Given the description of an element on the screen output the (x, y) to click on. 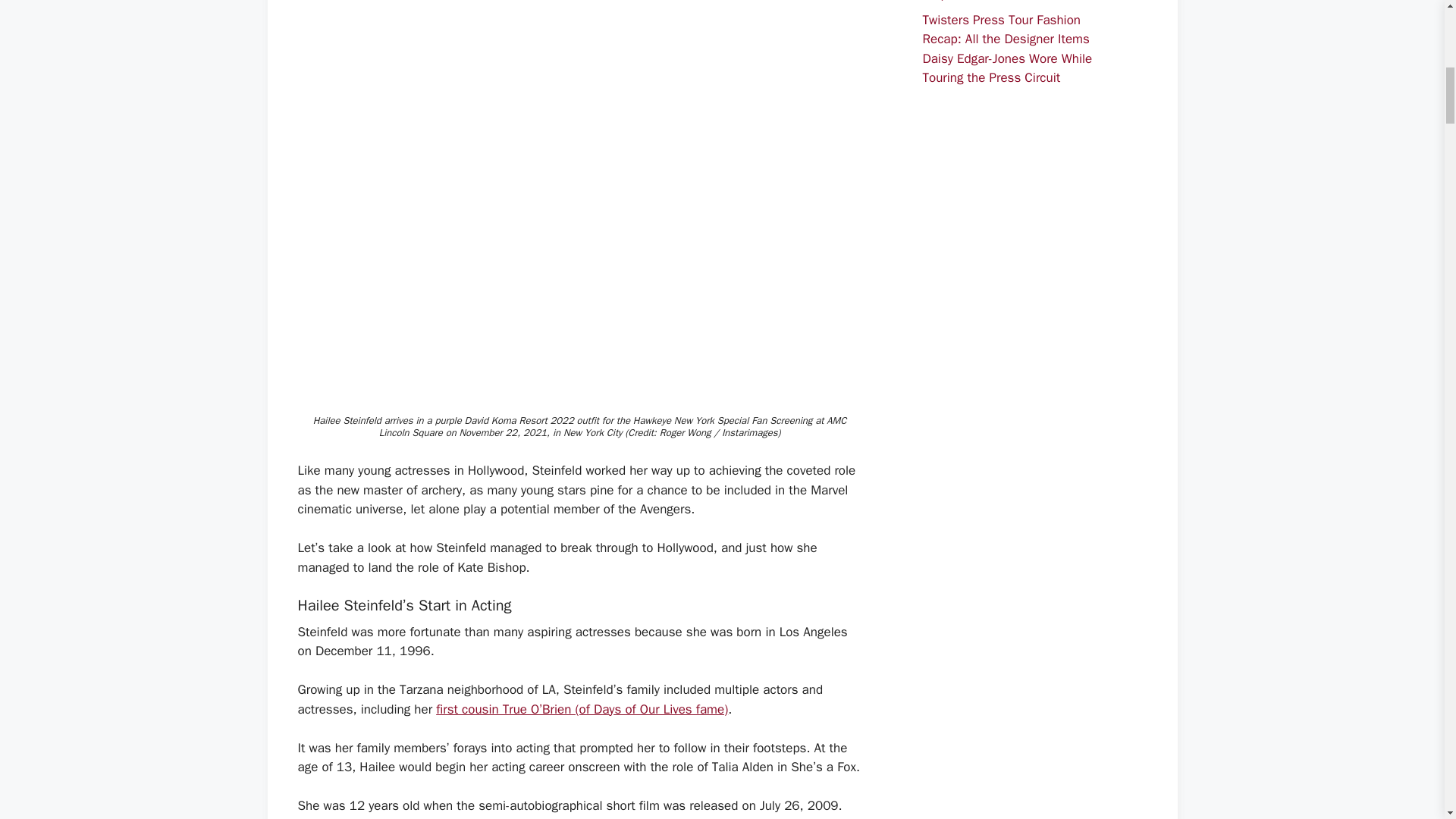
Scroll back to top (1406, 720)
